Given the description of an element on the screen output the (x, y) to click on. 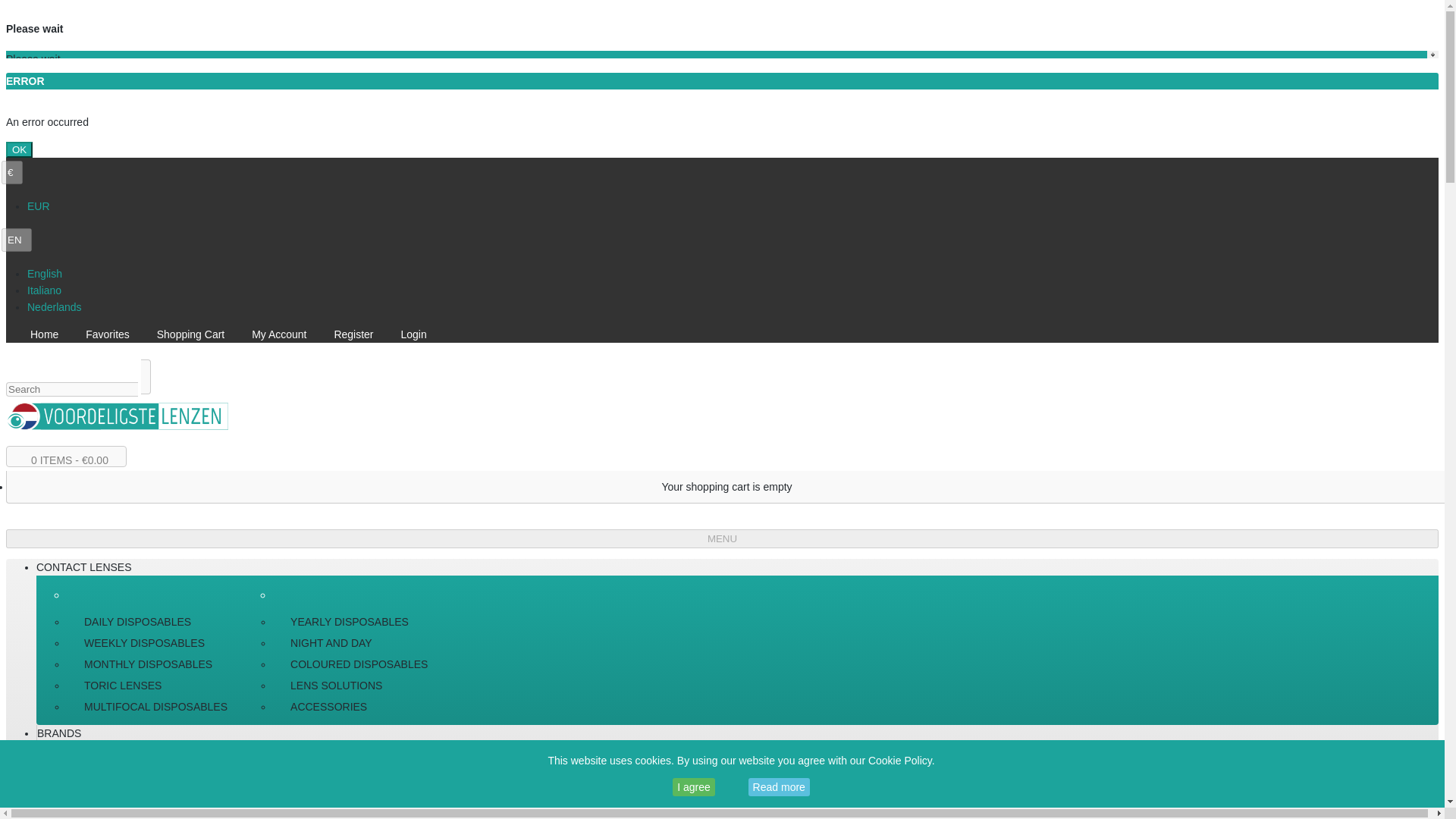
MENU (721, 538)
EUR (38, 205)
FAQ (47, 783)
MONTHLY DISPOSABLES (154, 663)
Favorites (111, 334)
Login (417, 334)
LENS SOLUTIONS (357, 685)
LENS EXAM (67, 749)
EN (16, 239)
I agree (693, 787)
My Account (282, 334)
YEARLY DISPOSABLES (357, 621)
Read more (778, 787)
WEEKLY DISPOSABLES (154, 642)
Italiano (44, 290)
